Given the description of an element on the screen output the (x, y) to click on. 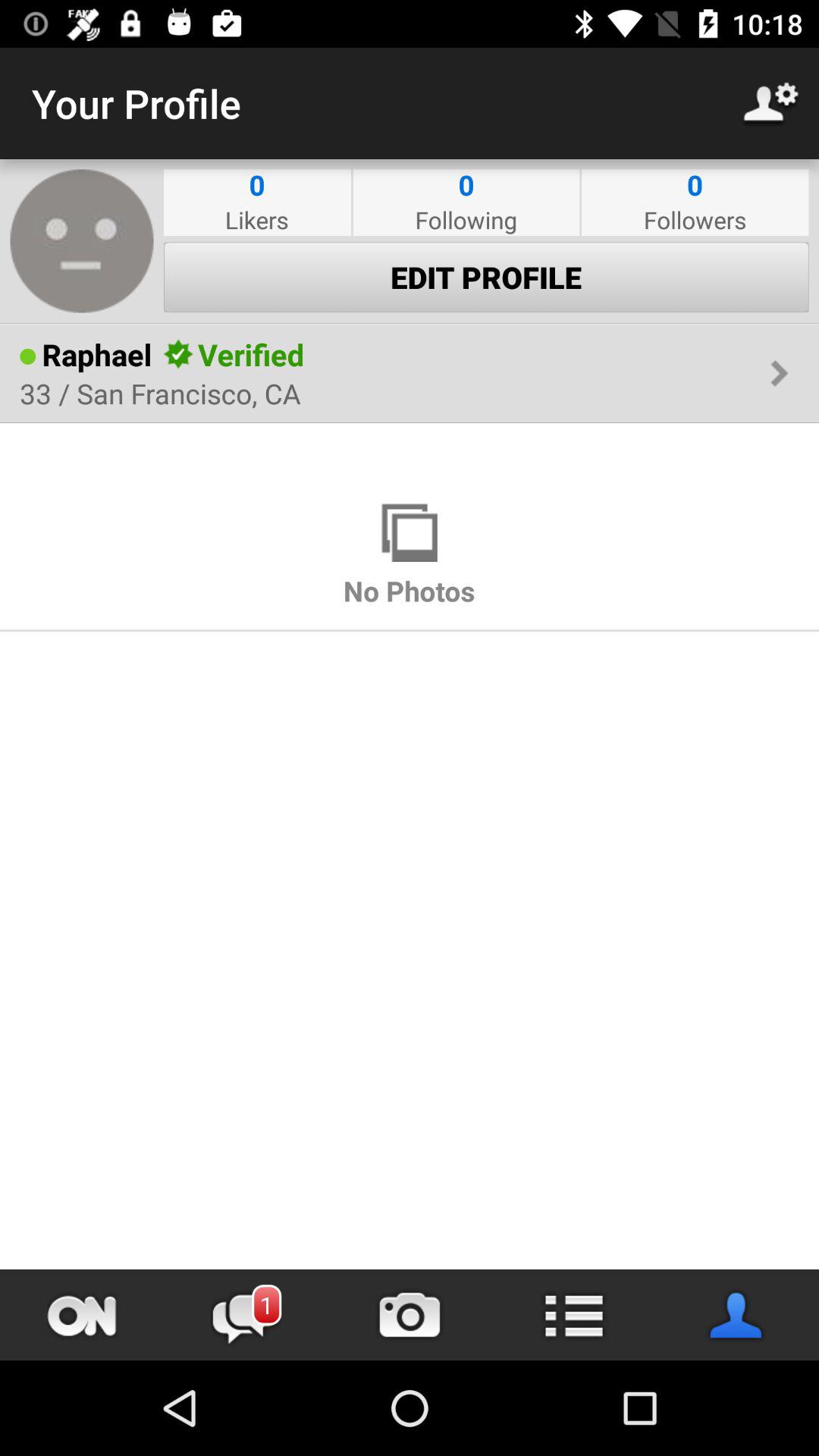
edit profile photo (81, 240)
